Given the description of an element on the screen output the (x, y) to click on. 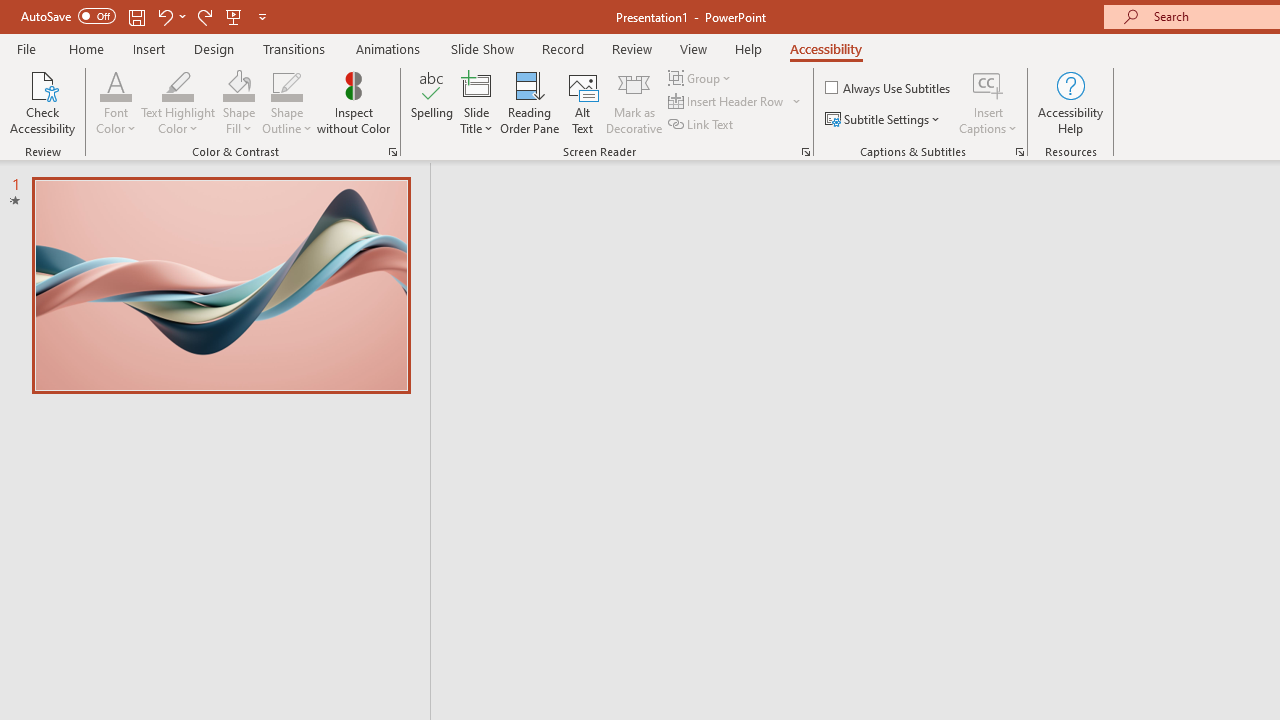
Insert Header Row (735, 101)
Slide Title (476, 84)
